Given the description of an element on the screen output the (x, y) to click on. 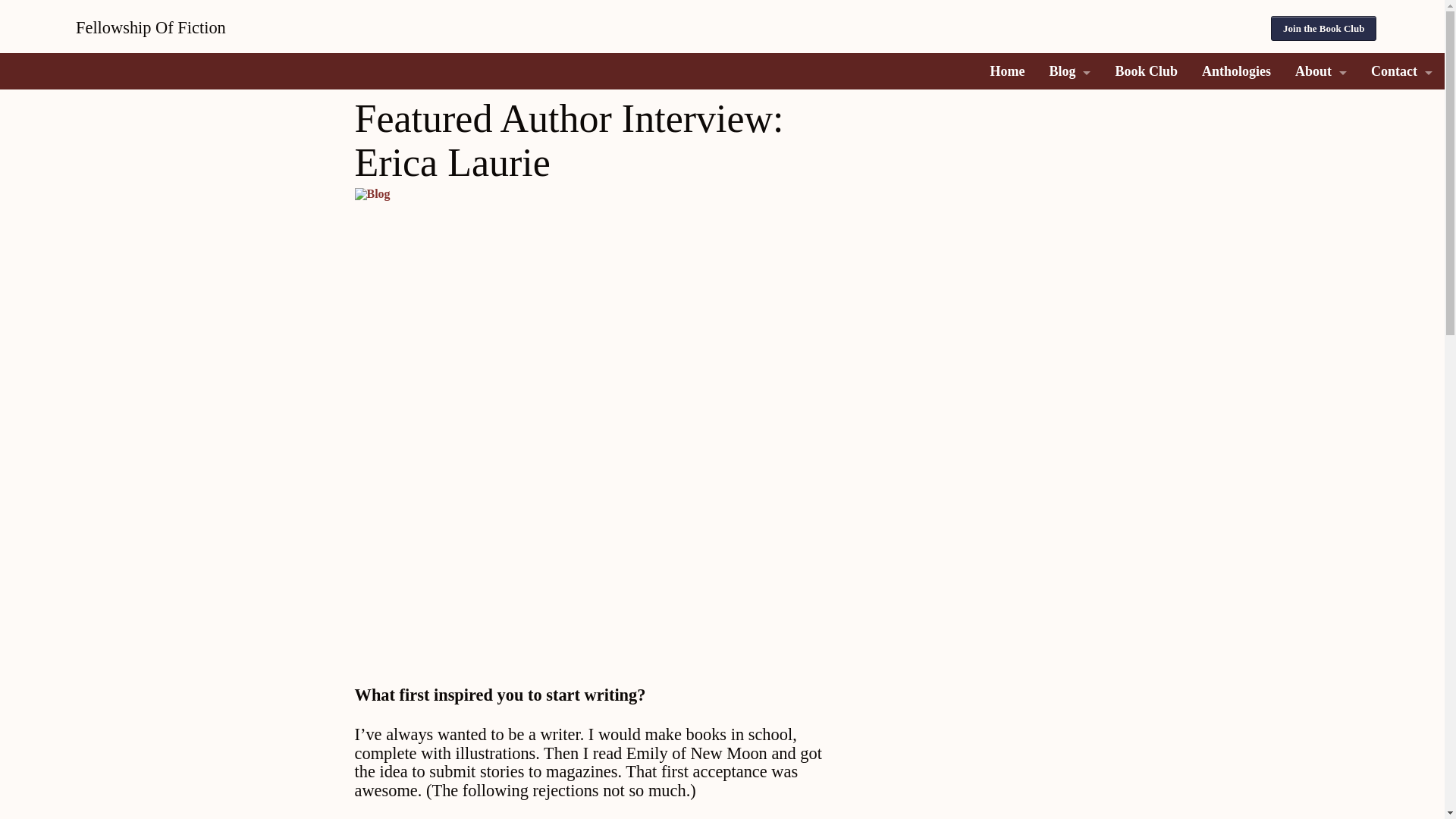
Anthologies (1235, 70)
Home (1006, 70)
Featured Author Interview: Erica Laurie (596, 427)
About (1320, 70)
Book Club (1145, 70)
Blog (1069, 70)
Join the Book Club (1323, 27)
Fellowship Of Fiction (378, 27)
